Given the description of an element on the screen output the (x, y) to click on. 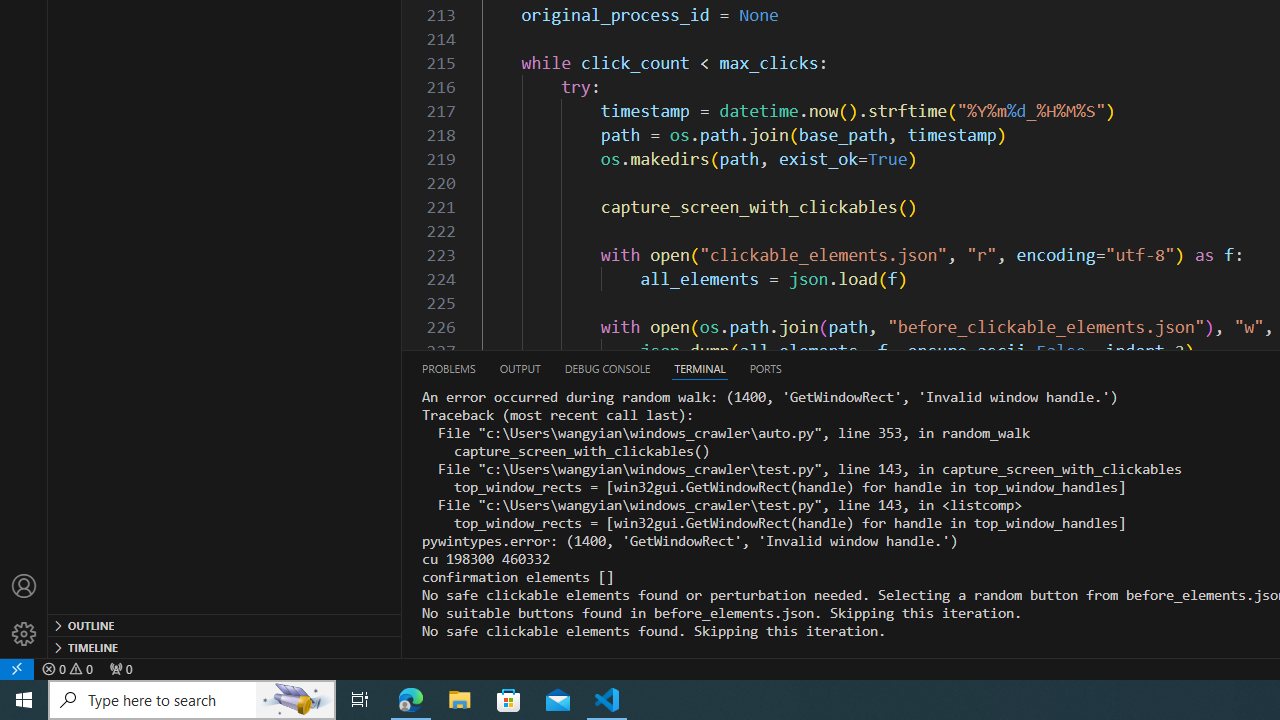
Terminal (Ctrl+`) (699, 368)
Ports (765, 368)
remote (17, 668)
Manage (24, 610)
Outline Section (224, 624)
Problems (Ctrl+Shift+M) (448, 368)
No Problems (67, 668)
Accounts (24, 585)
No Ports Forwarded (120, 668)
Manage (24, 633)
Timeline Section (224, 646)
Debug Console (Ctrl+Shift+Y) (607, 368)
Output (Ctrl+Shift+U) (519, 368)
